Given the description of an element on the screen output the (x, y) to click on. 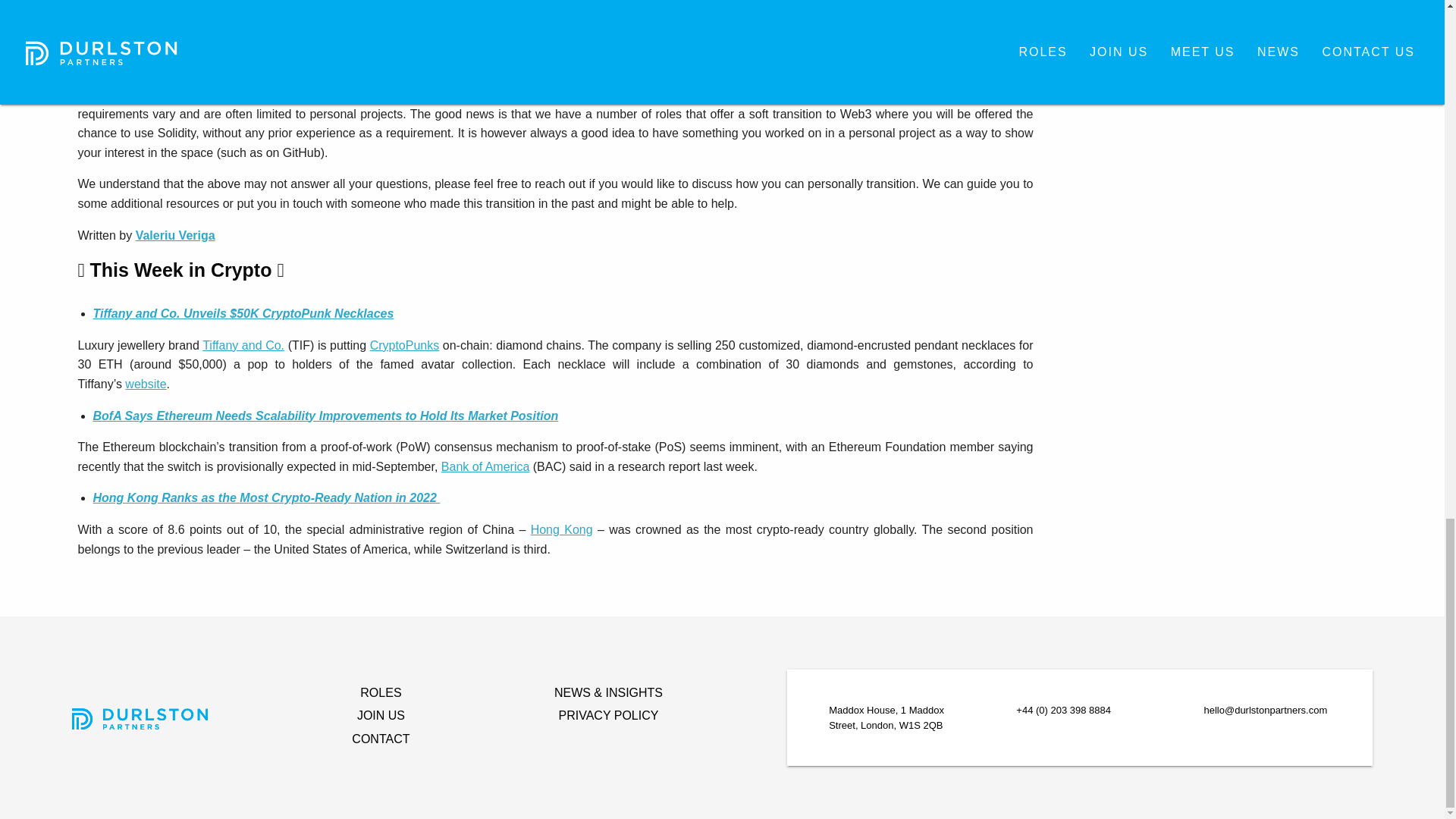
PRIVACY POLICY (609, 715)
JOIN US (380, 715)
CONTACT (380, 739)
ROLES (380, 692)
Valeriu Veriga (175, 235)
Maddox House, 1 Maddox Street, London, W1S 2QB (891, 717)
CryptoPunks (404, 345)
Hong Kong Ranks as the Most Crypto-Ready Nation in 2022  (266, 497)
Hong Kong (561, 529)
